Given the description of an element on the screen output the (x, y) to click on. 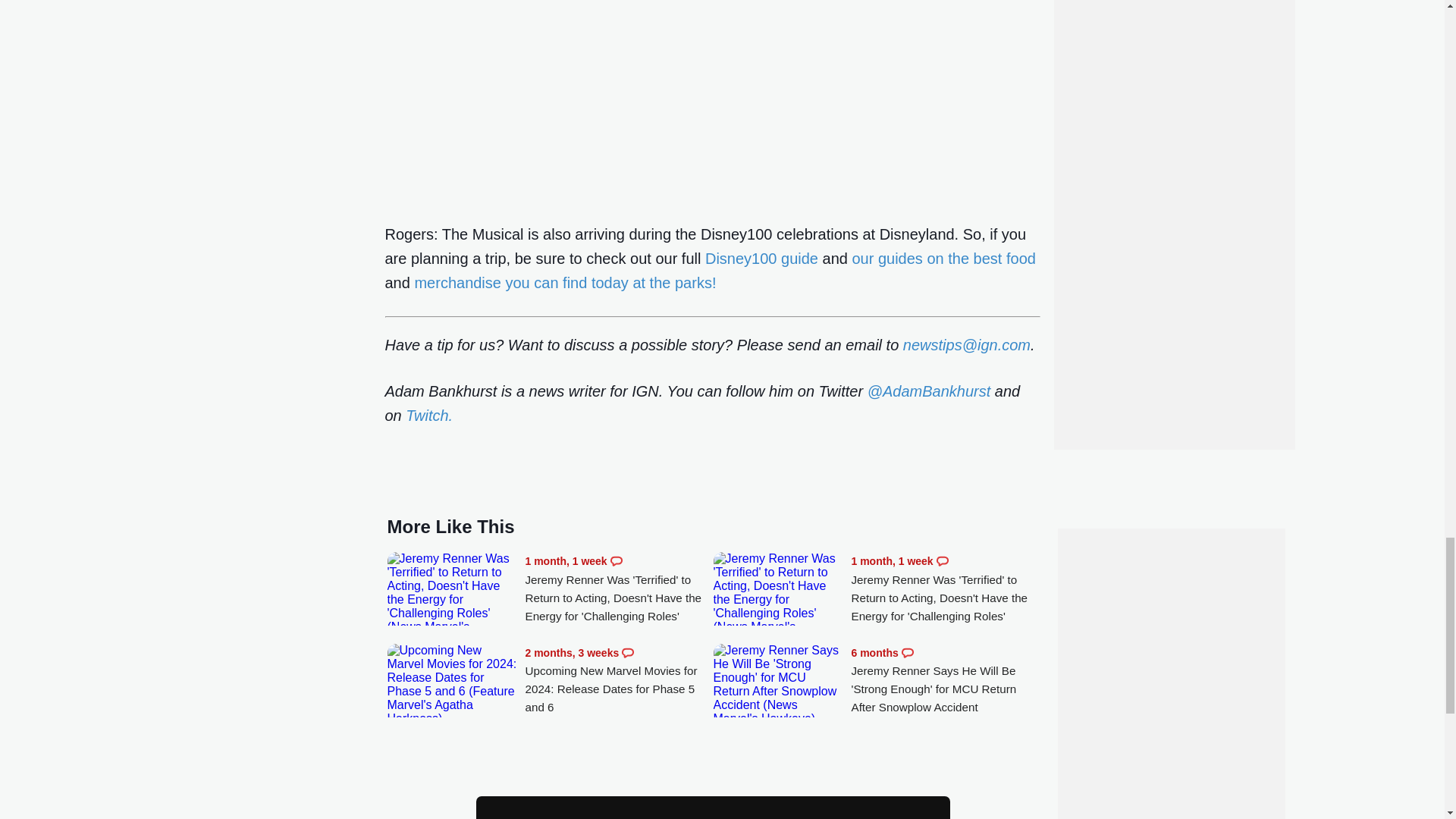
Comments (627, 653)
Comments (907, 653)
Comments (616, 561)
Comments (942, 561)
